Given the description of an element on the screen output the (x, y) to click on. 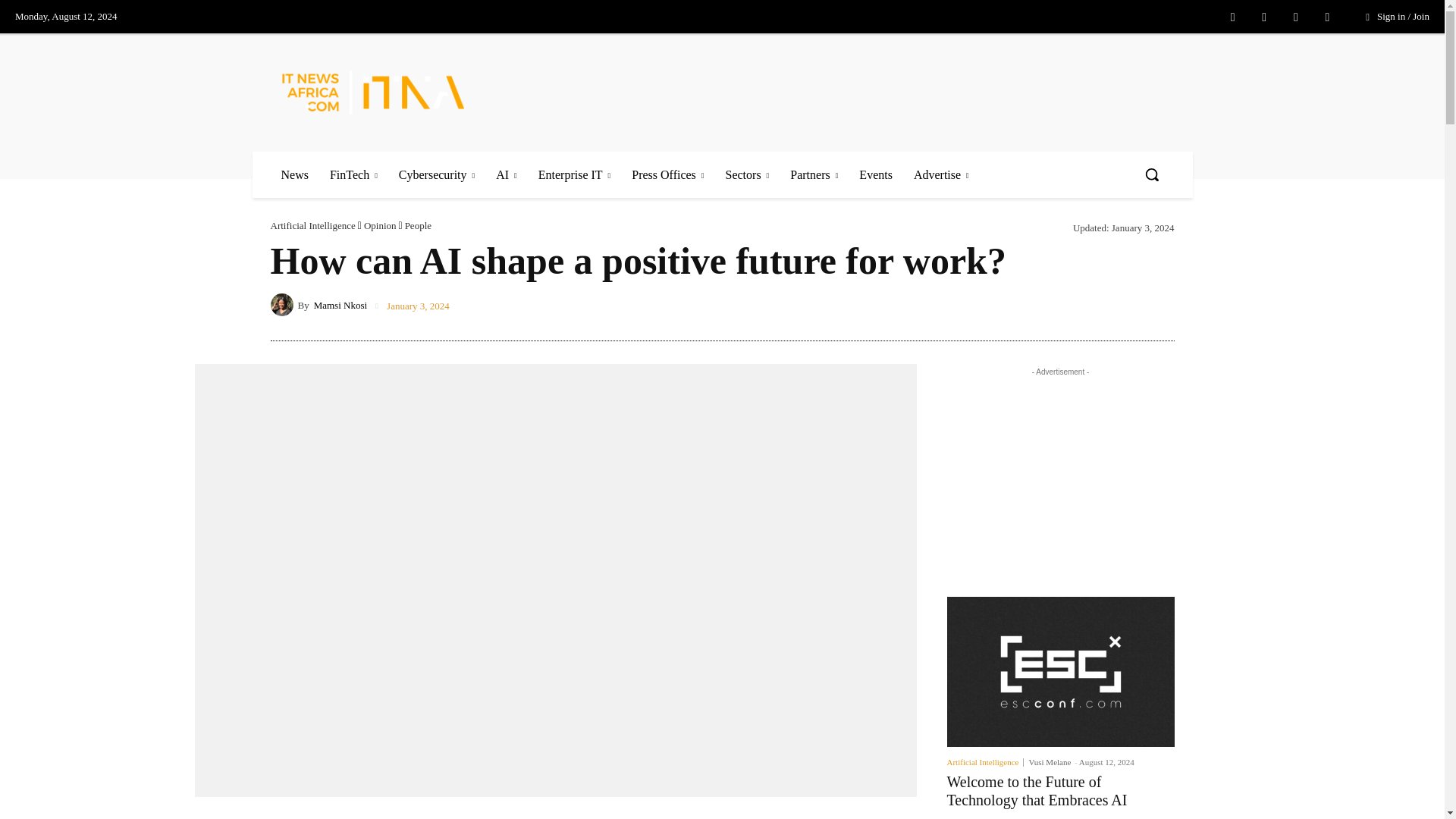
IT News Africa (373, 92)
Twitter (1295, 17)
Facebook (1233, 17)
IT News Africa (392, 92)
Youtube (1327, 17)
Instagram (1263, 17)
News (293, 174)
FinTech (353, 174)
